Given the description of an element on the screen output the (x, y) to click on. 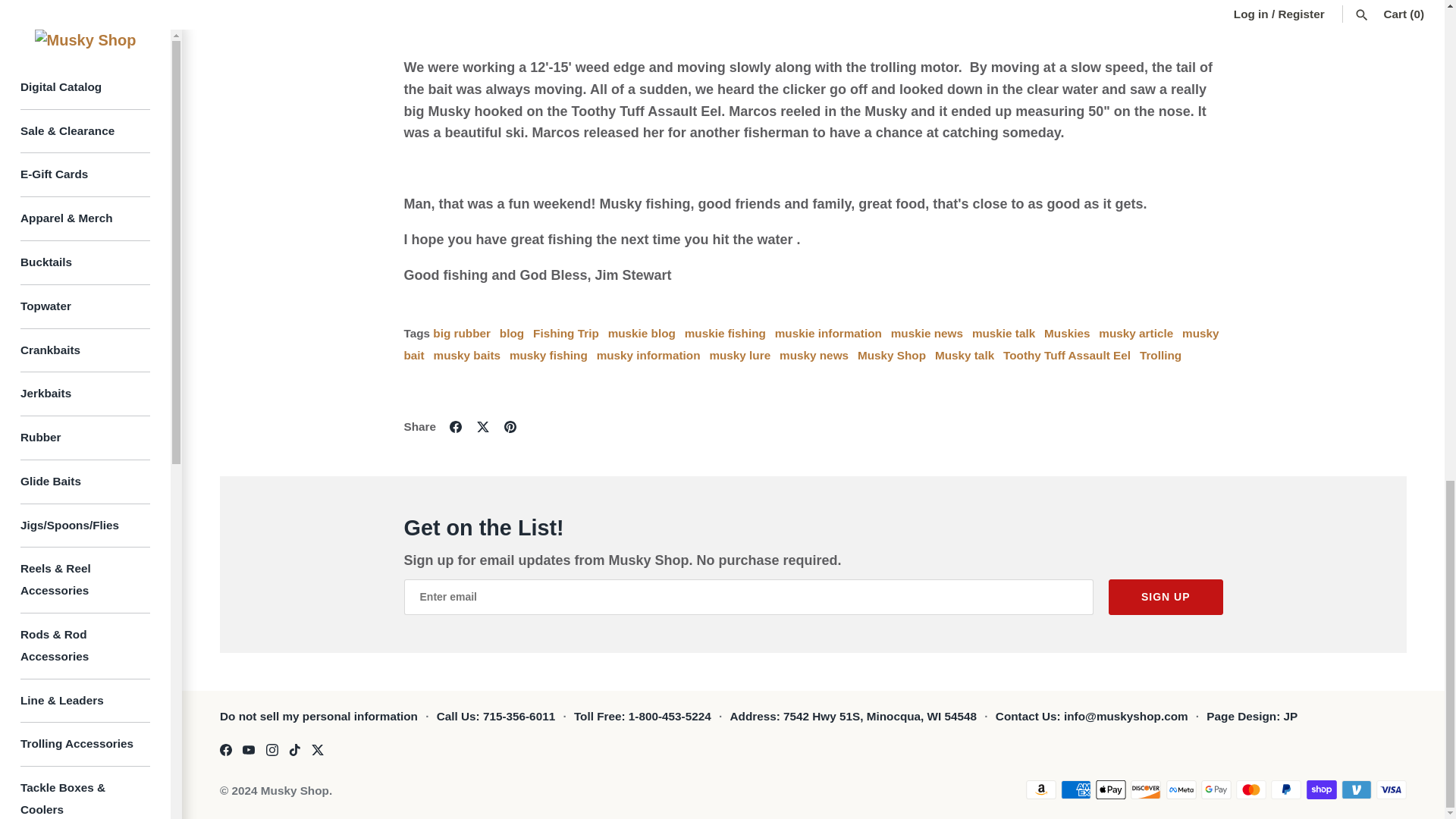
Show articles tagged Muskies (1066, 332)
Instagram (271, 749)
Discover (1145, 789)
Show articles tagged musky bait (810, 343)
Show articles tagged muskie fishing (724, 332)
Show articles tagged musky news (813, 354)
Show articles tagged Fishing Trip (565, 332)
Show articles tagged muskie information (828, 332)
Show articles tagged musky article (1136, 332)
Apple Pay (1110, 789)
